Given the description of an element on the screen output the (x, y) to click on. 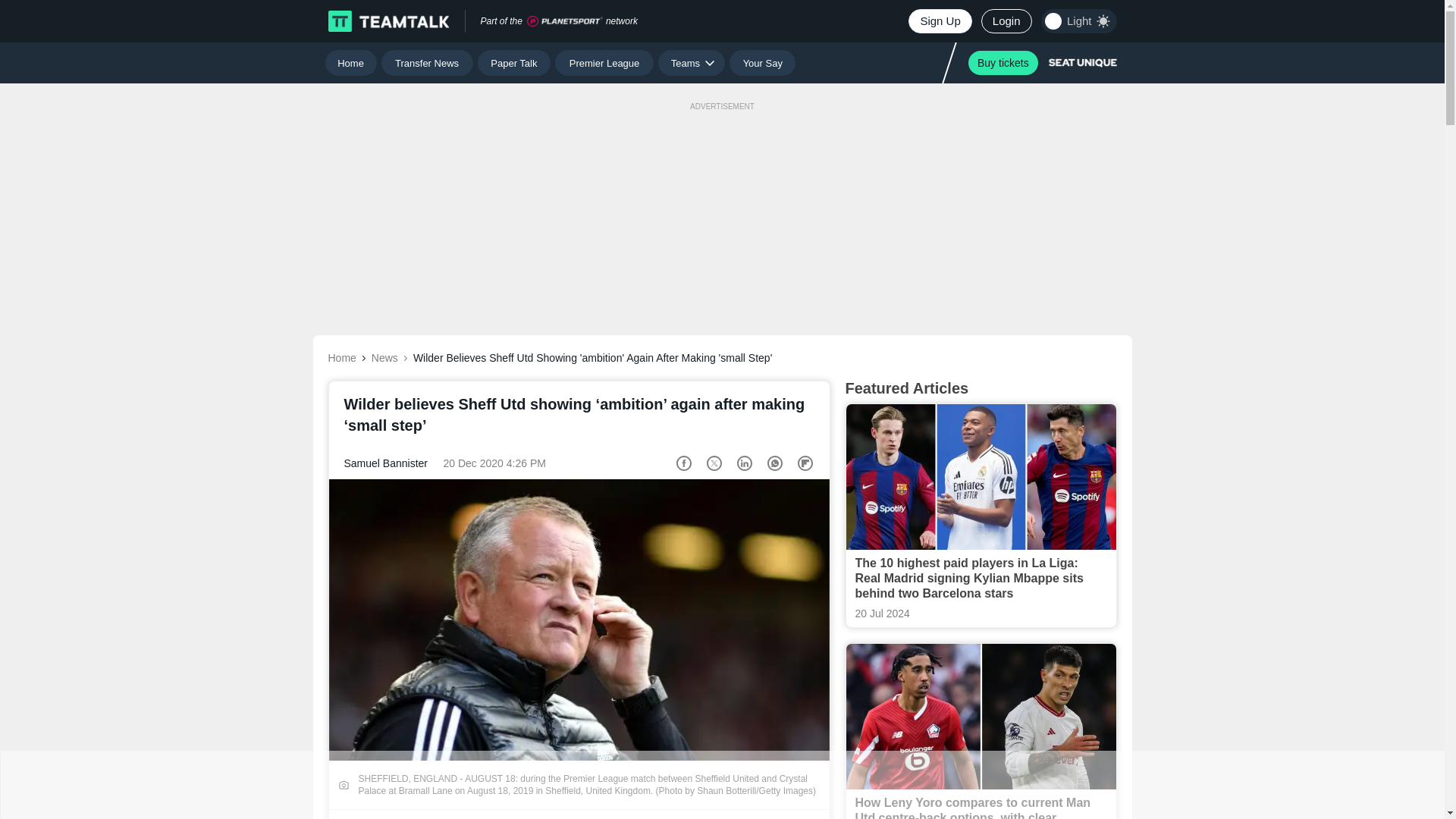
Login (1006, 21)
Teams (691, 62)
3rd party ad content (721, 785)
Buy tickets (1003, 62)
Transfer News (427, 62)
Premier League (603, 62)
Your Say (761, 62)
Sign Up (939, 21)
Paper Talk (514, 62)
Home (349, 62)
Posts by Samuel Bannister (385, 463)
